Given the description of an element on the screen output the (x, y) to click on. 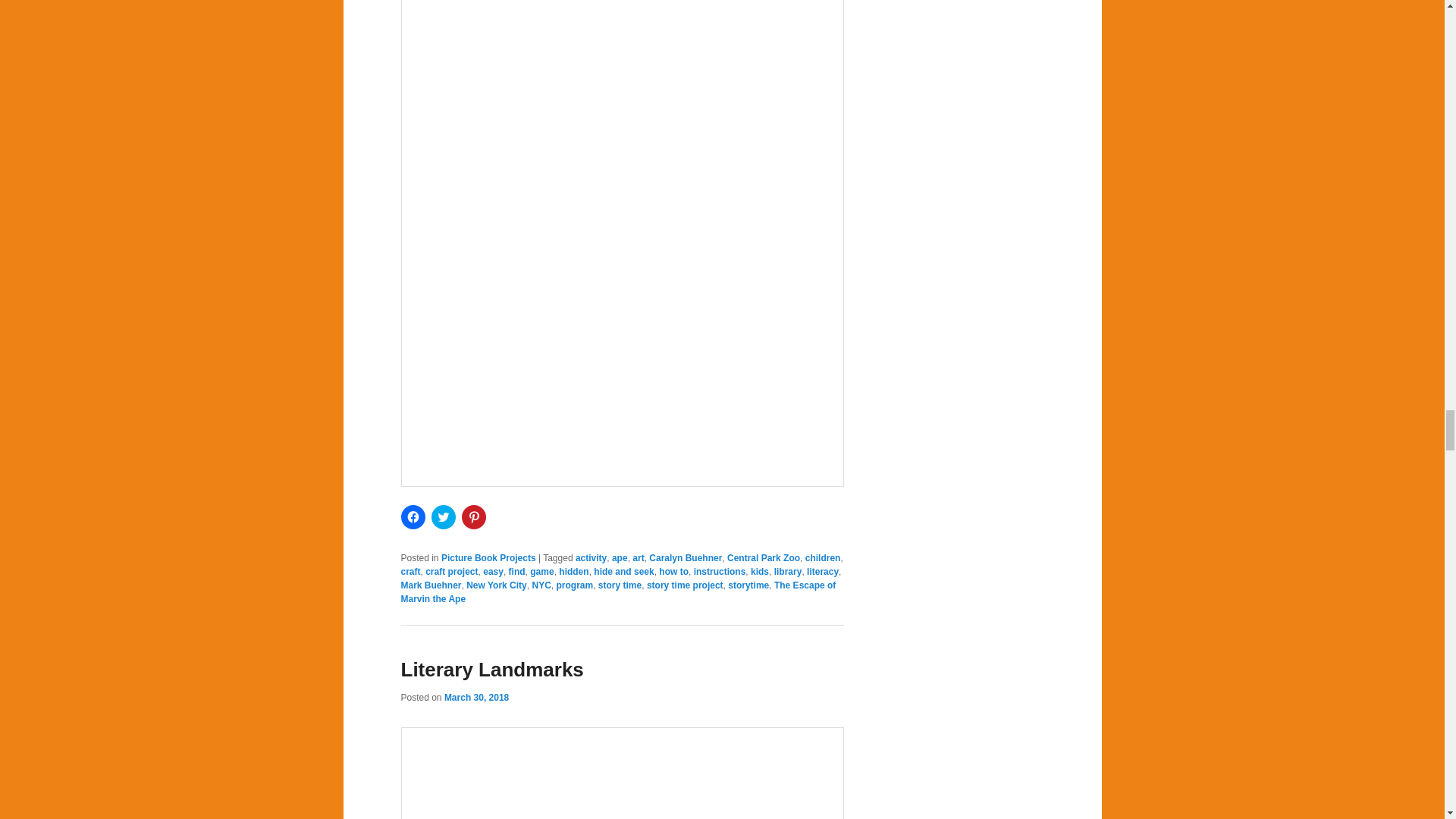
Click to share on Pinterest (472, 517)
Click to share on Facebook (412, 517)
Click to share on Twitter (442, 517)
